Given the description of an element on the screen output the (x, y) to click on. 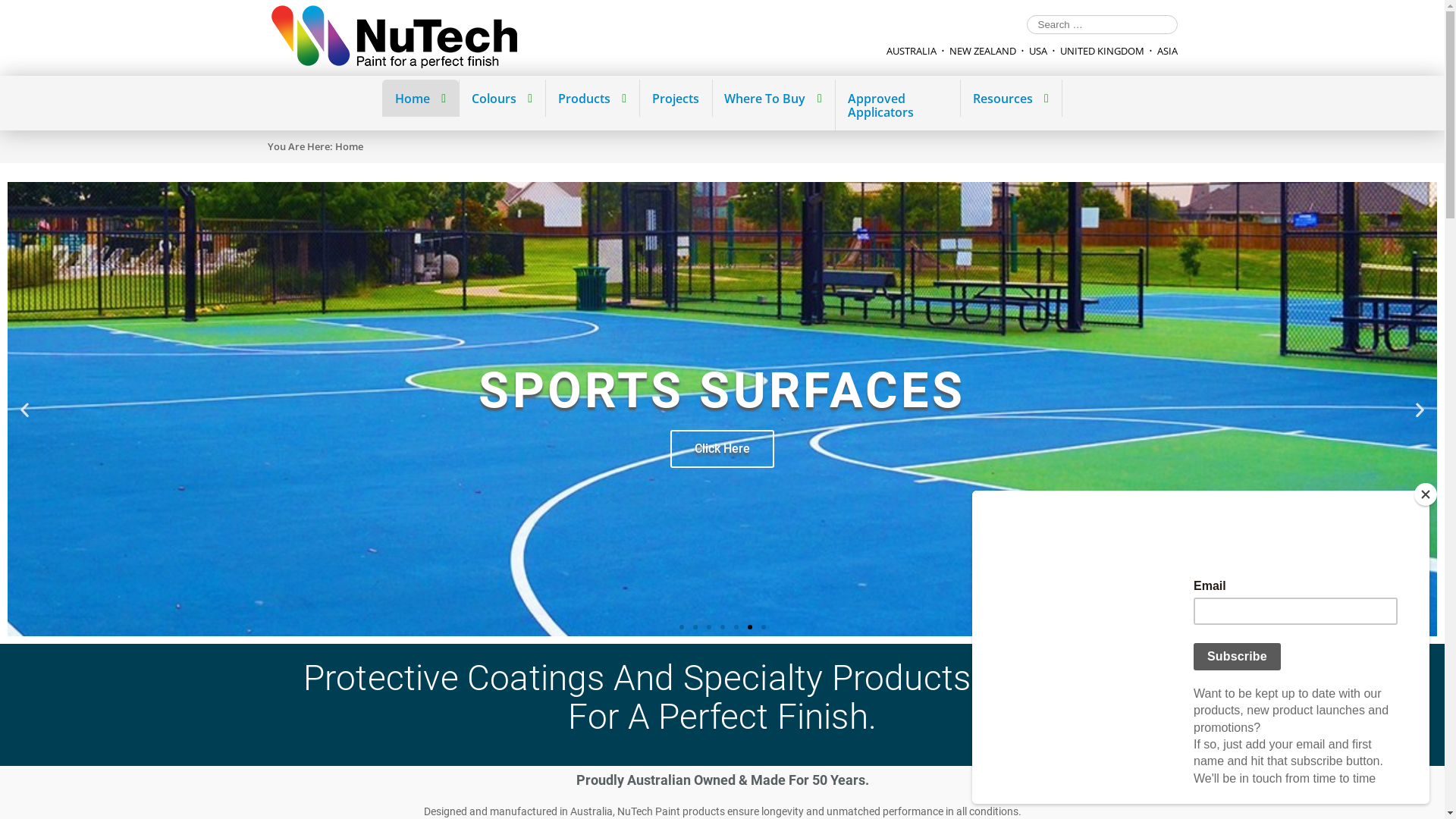
ASIA Element type: text (1167, 50)
Resources Element type: text (1010, 97)
Colours Element type: text (501, 97)
UNITED KINGDOM Element type: text (1102, 50)
NEW ZEALAND Element type: text (982, 50)
Where To Buy Element type: text (772, 97)
Projects Element type: text (675, 97)
Search for: Element type: hover (1101, 24)
Click Here Element type: text (722, 470)
Home Element type: text (419, 97)
Products Element type: text (591, 97)
USA Element type: text (1037, 50)
Approved Applicators Element type: text (896, 104)
AUSTRALIA Element type: text (910, 50)
